Given the description of an element on the screen output the (x, y) to click on. 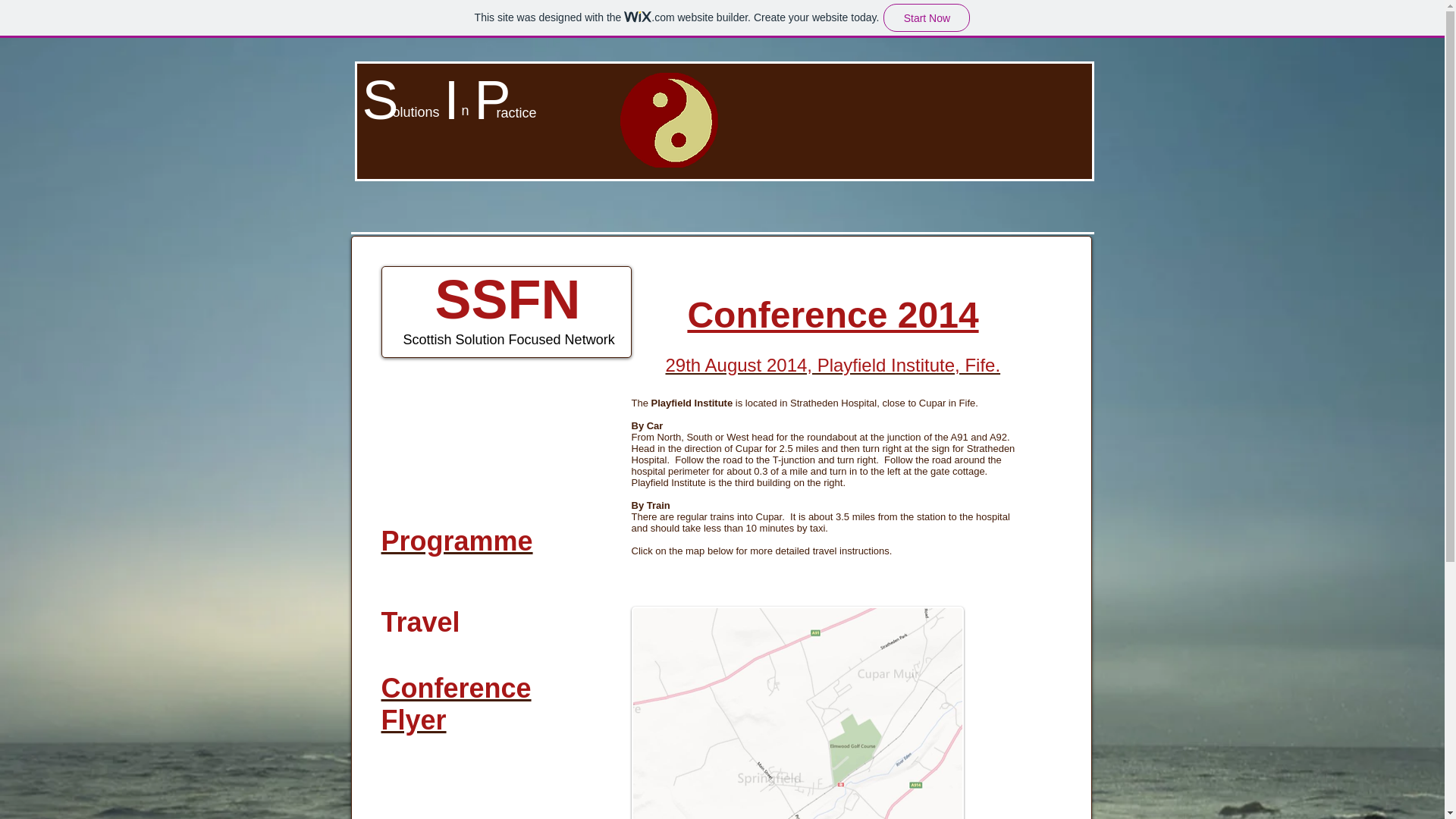
Conference 2014 (832, 314)
29th August 2014, Playfield Institute, Fife. (833, 364)
Conference Flyer (455, 703)
Playfield.png (796, 712)
ying.jpg.png (669, 119)
Programme (456, 540)
